Given the description of an element on the screen output the (x, y) to click on. 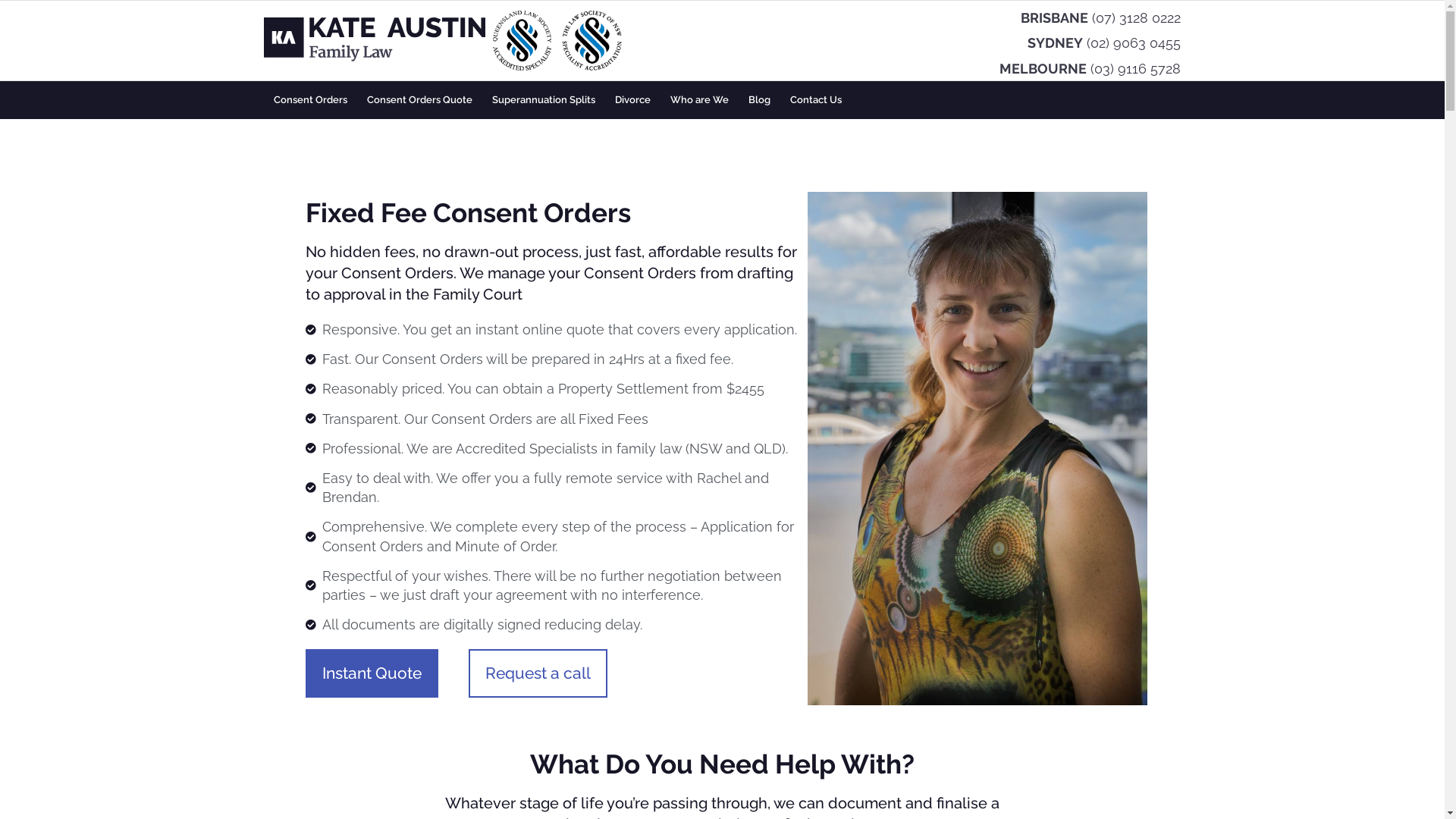
SYDNEY (02) 9063 0455 Element type: text (1103, 41)
Instant Quote Element type: text (370, 672)
Contact Us Element type: text (814, 100)
Superannuation Splits Element type: text (543, 100)
Divorce Element type: text (632, 100)
BRISBANE (07) 3128 0222 Element type: text (1100, 16)
Consent Orders Quote Element type: text (418, 100)
Consent Orders Element type: text (310, 100)
Who are We Element type: text (698, 100)
Request a call Element type: text (537, 672)
MELBOURNE (03) 9116 5728 Element type: text (1089, 67)
Blog Element type: text (759, 100)
